Given the description of an element on the screen output the (x, y) to click on. 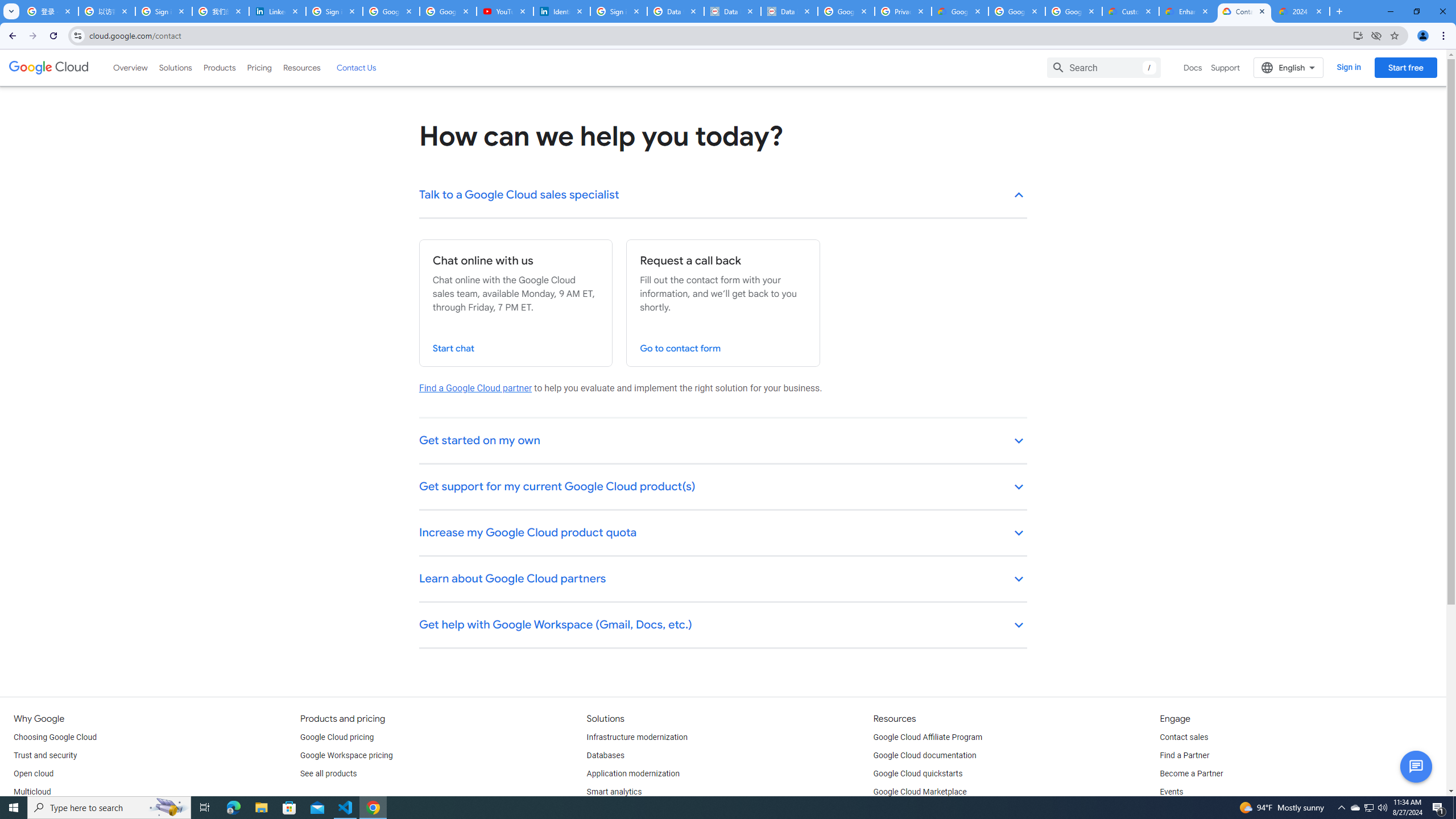
Install Google Cloud (1358, 35)
Find a Partner (1183, 755)
Button to activate chat (1416, 766)
Sign in - Google Accounts (334, 11)
Pricing (259, 67)
Data Privacy Framework (788, 11)
Find a Google Cloud partner (475, 387)
